Given the description of an element on the screen output the (x, y) to click on. 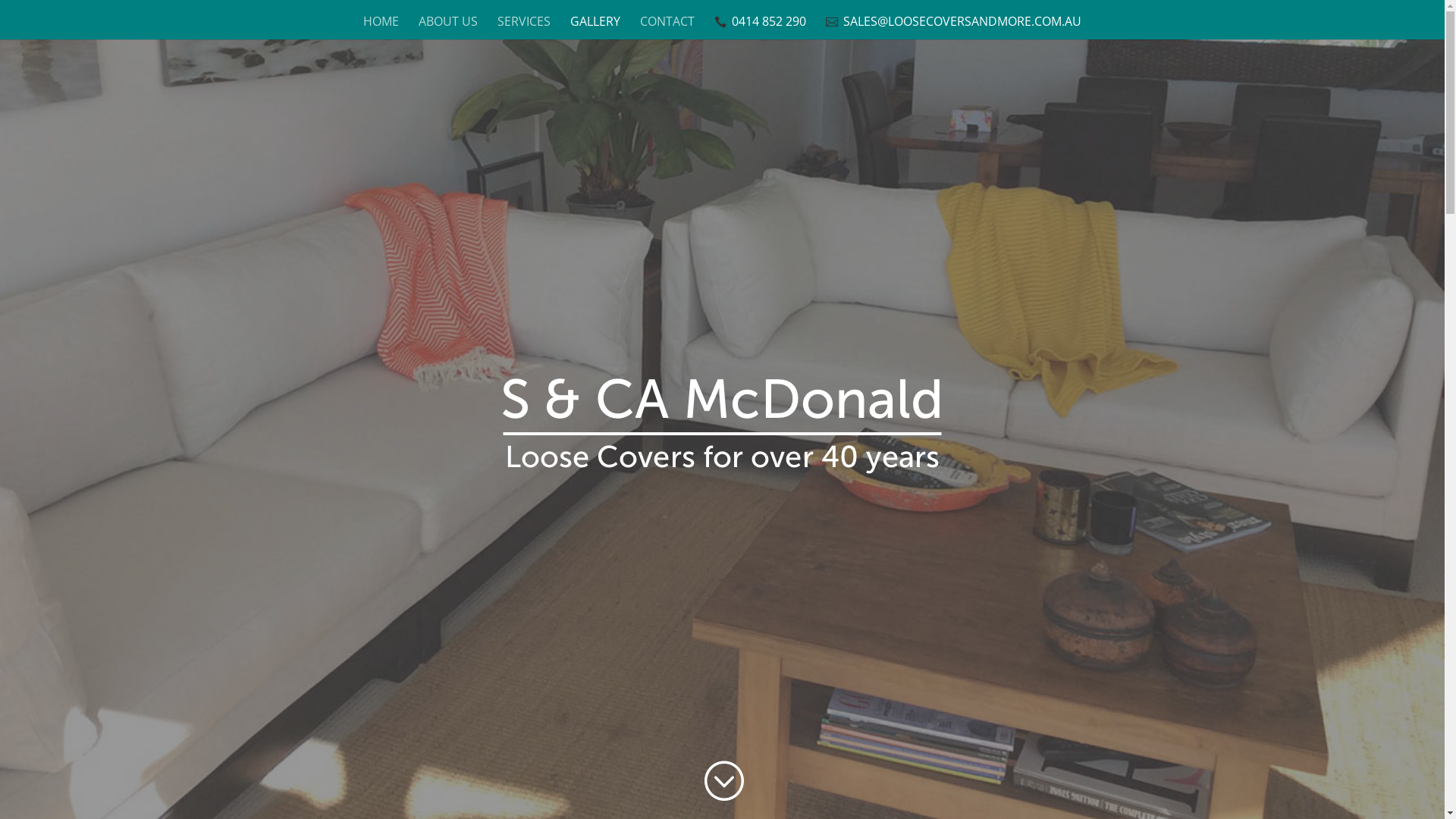
0414 852 290 Element type: text (760, 26)
SERVICES Element type: text (523, 27)
ABOUT US Element type: text (447, 27)
CONTACT Element type: text (667, 27)
HOME Element type: text (380, 27)
GALLERY Element type: text (595, 27)
SALES@LOOSECOVERSANDMORE.COM.AU Element type: text (953, 26)
; Element type: text (721, 780)
